Given the description of an element on the screen output the (x, y) to click on. 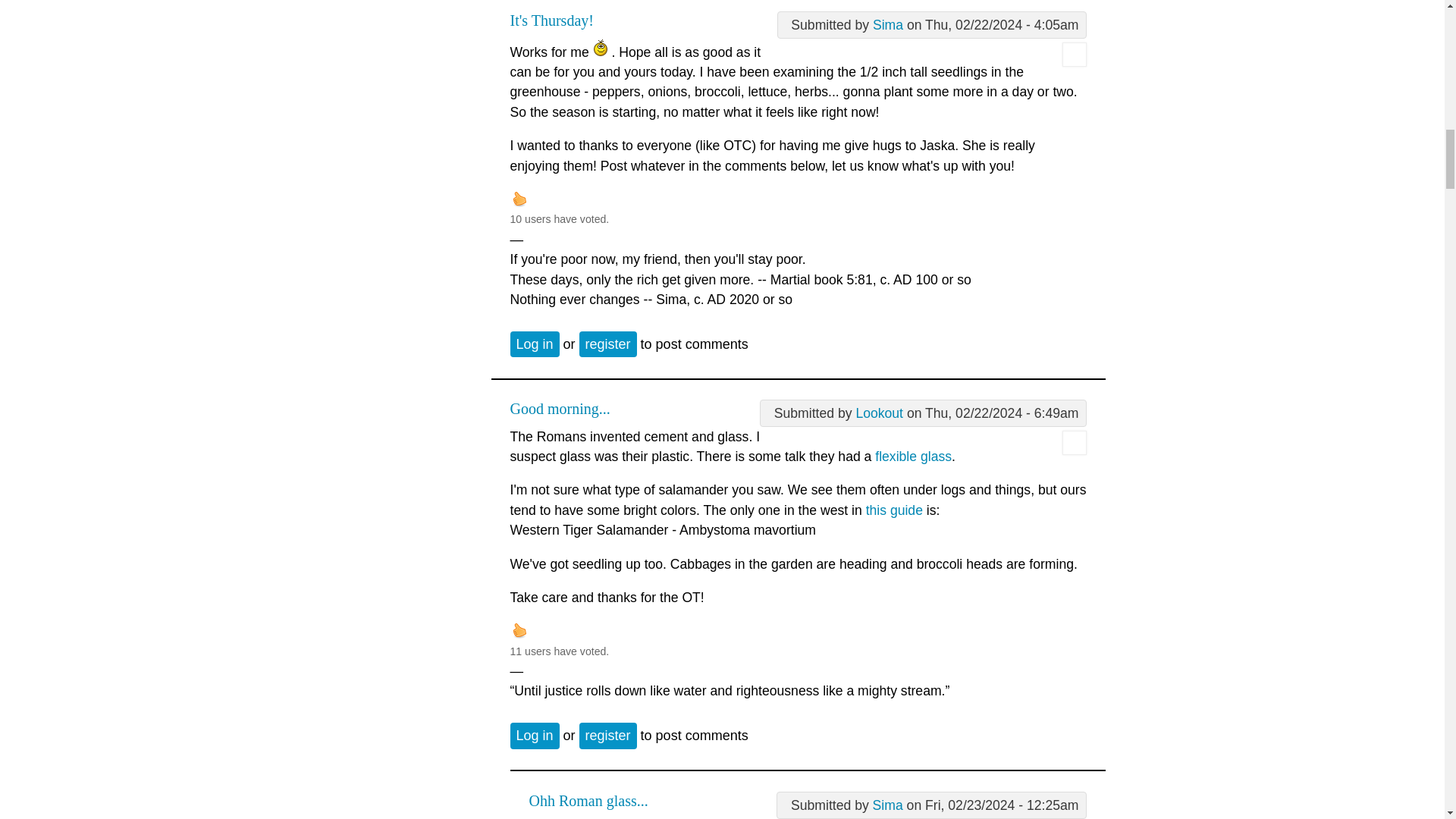
Lookout's picture (1073, 442)
View user profile. (887, 24)
flexible glass (913, 456)
register (608, 344)
Sima (887, 805)
register (608, 735)
Log in (534, 344)
Sima (887, 24)
View user profile. (879, 412)
View user profile. (1073, 61)
Good morning... (559, 408)
View user profile. (1073, 450)
Sima's picture (1073, 54)
It's Thursday! (550, 20)
Log in (534, 735)
